Given the description of an element on the screen output the (x, y) to click on. 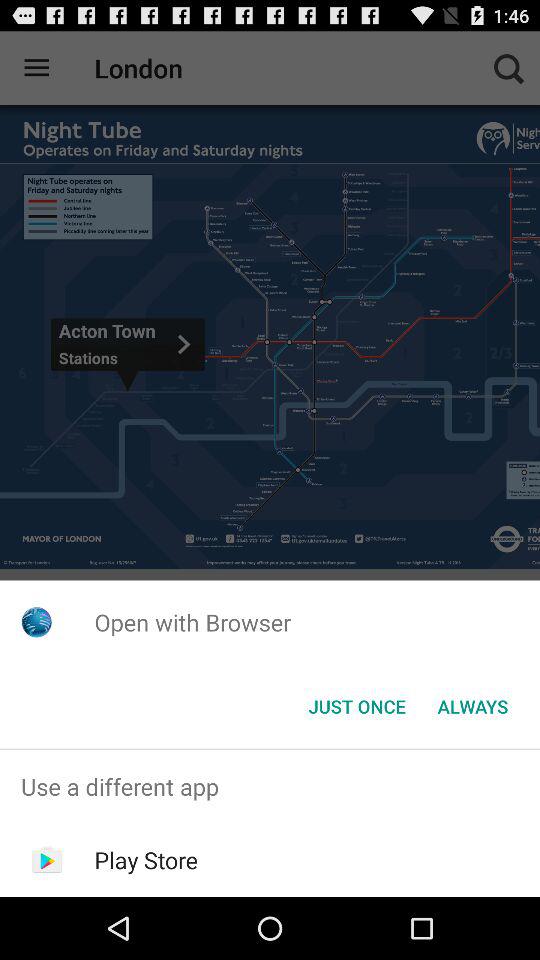
flip to the always (472, 706)
